Given the description of an element on the screen output the (x, y) to click on. 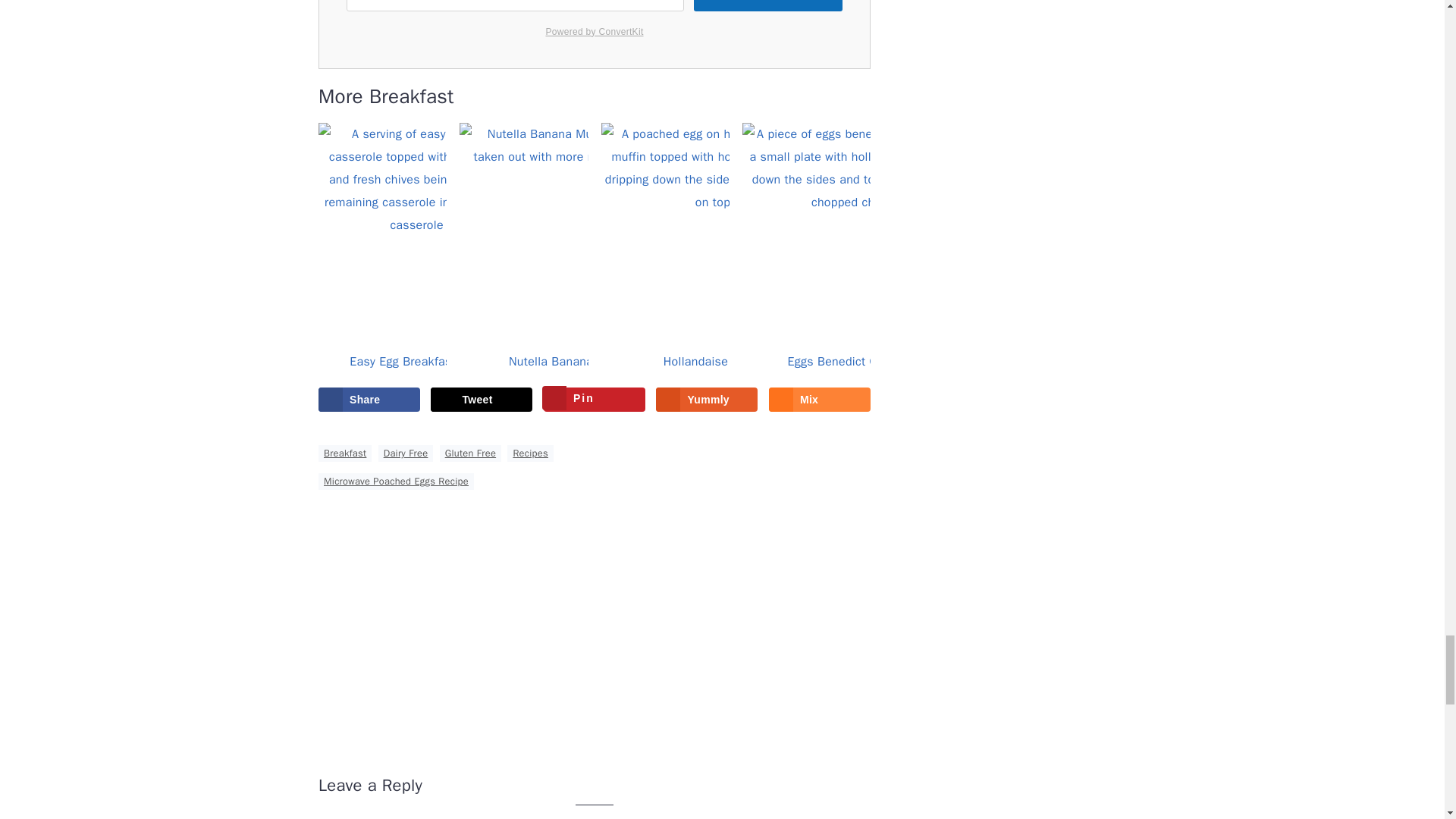
Share on X (481, 399)
Share on Facebook (369, 399)
Save to Pinterest (594, 399)
Share on Mix (819, 399)
Share on Yummly (706, 399)
